Given the description of an element on the screen output the (x, y) to click on. 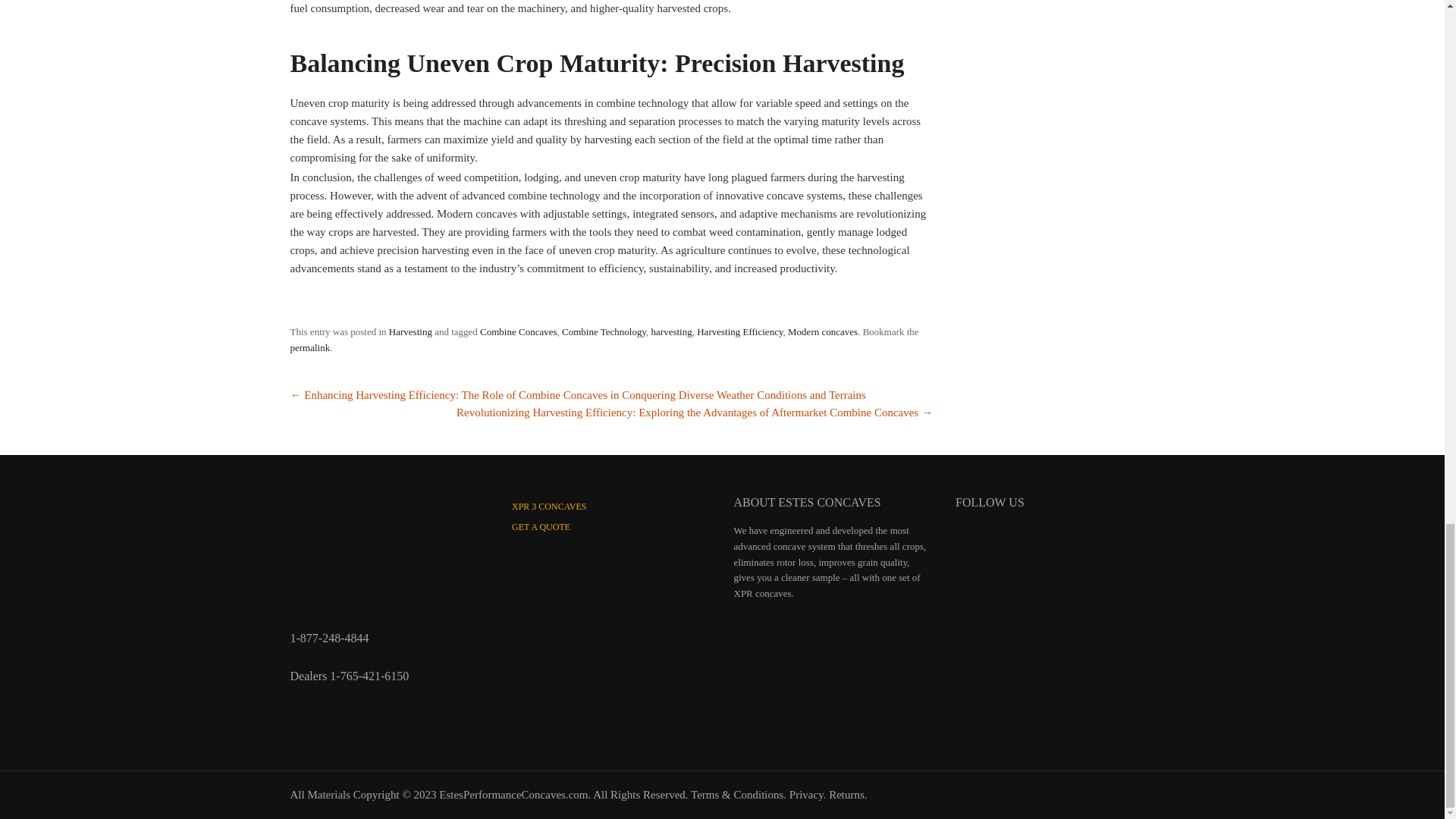
Combine Concaves (518, 331)
Harvesting Efficiency (740, 331)
estes concaves facebook (973, 542)
GET A QUOTE (541, 526)
Combine Technology (604, 331)
estes concaves instagram (1012, 541)
Modern concaves (822, 331)
Harvesting (410, 331)
XPR 3 CONCAVES (549, 506)
harvesting (671, 331)
